Given the description of an element on the screen output the (x, y) to click on. 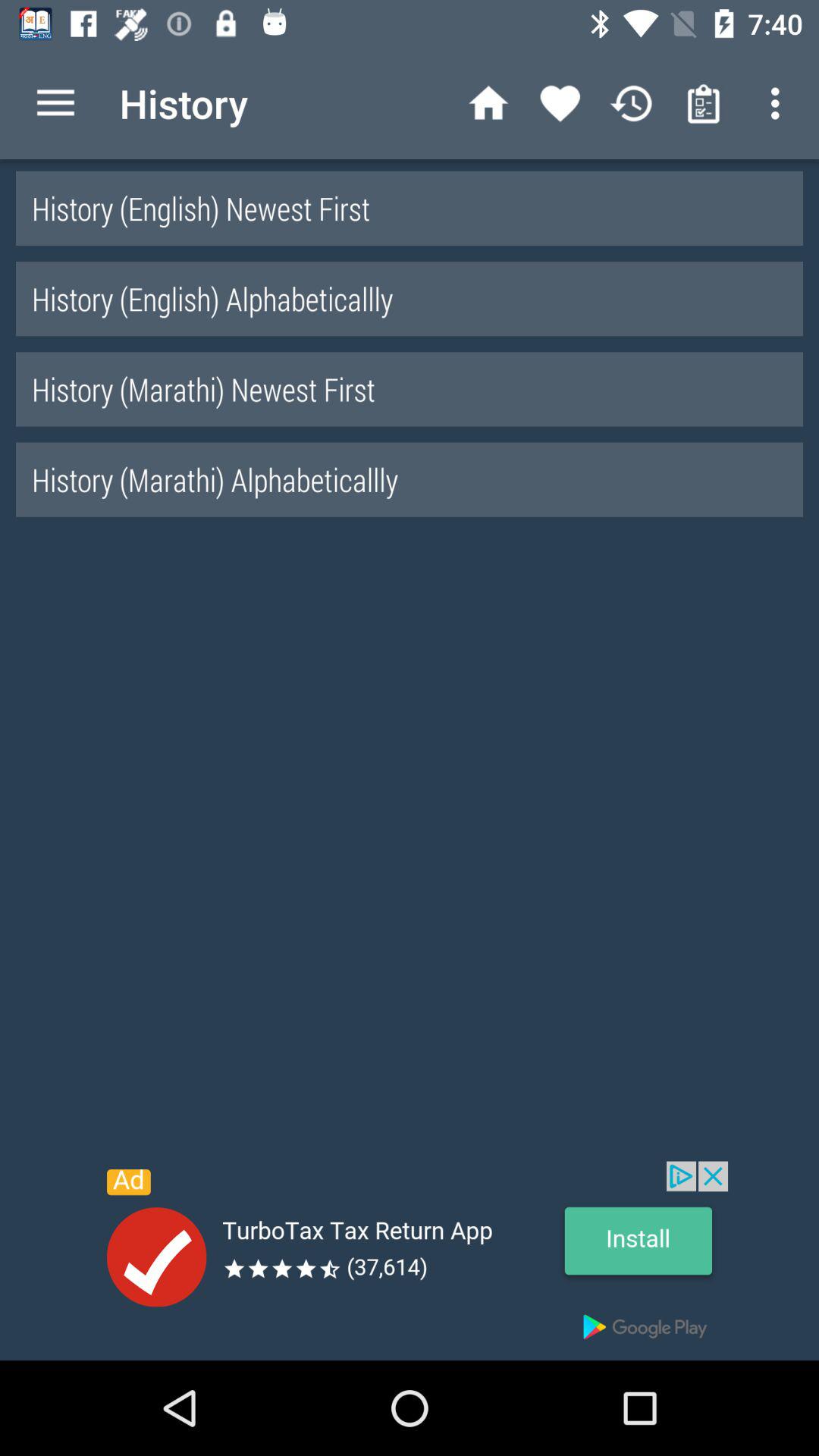
open an advertisements (409, 1260)
